Given the description of an element on the screen output the (x, y) to click on. 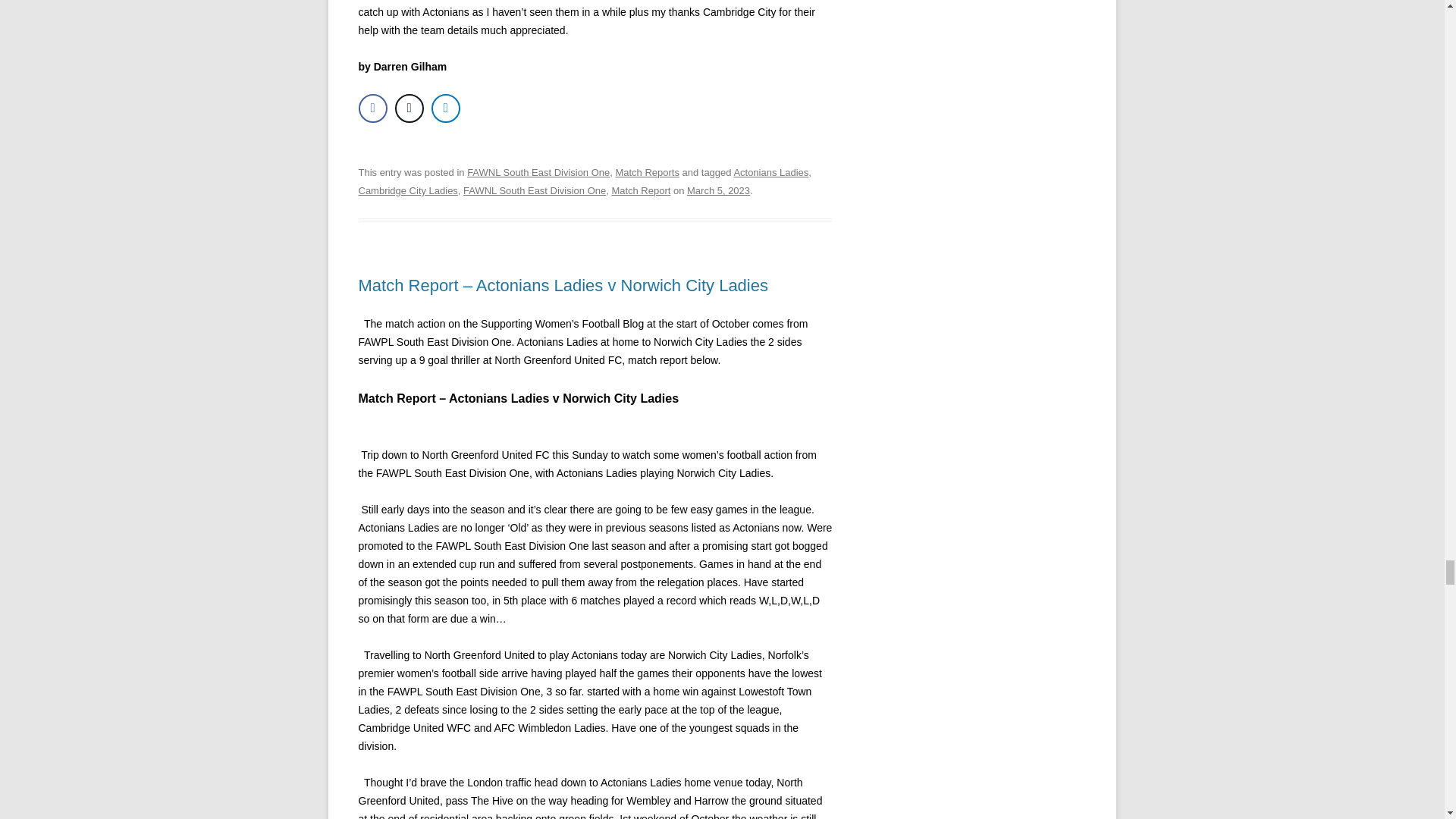
22:25 (718, 190)
